Given the description of an element on the screen output the (x, y) to click on. 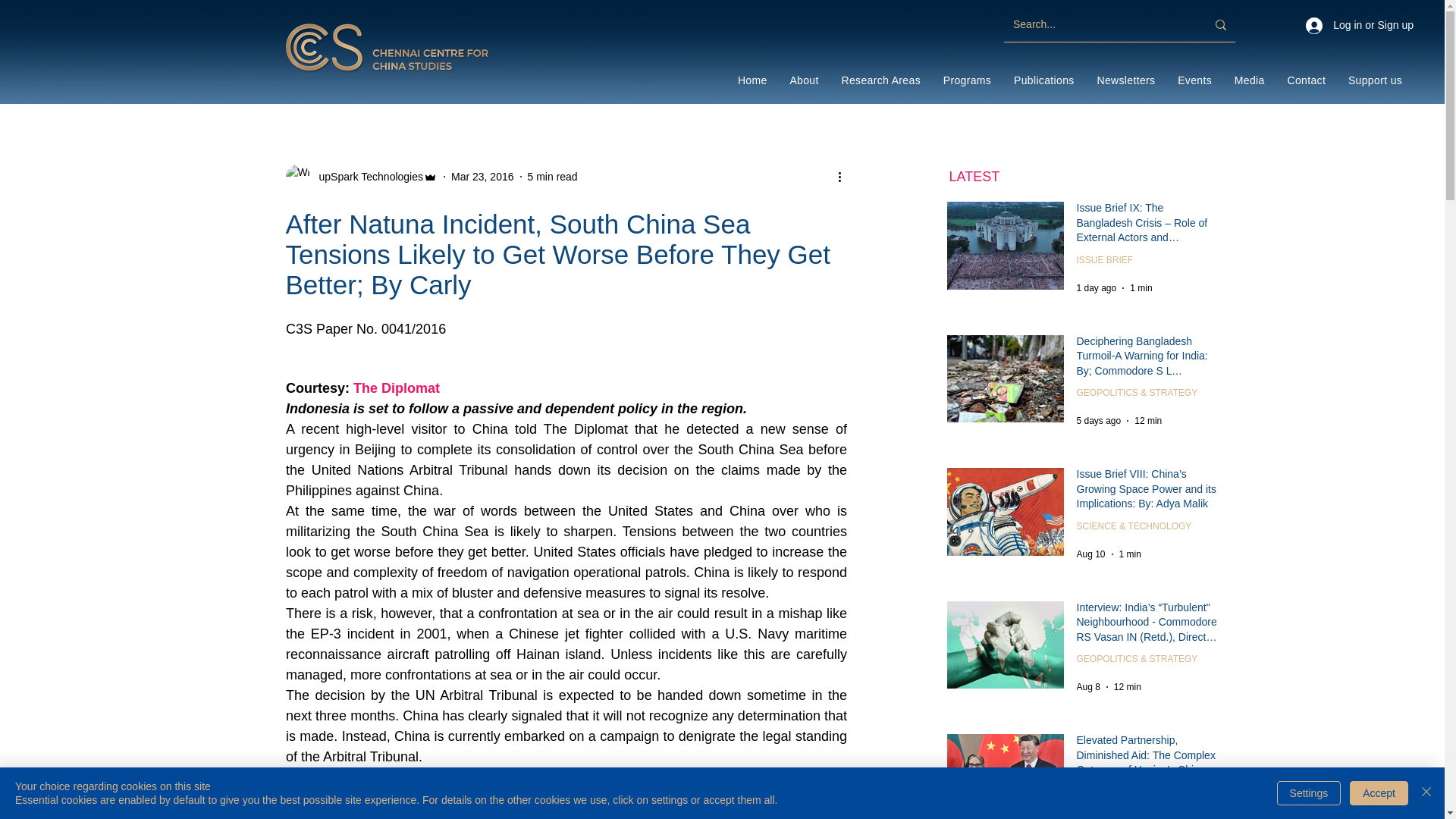
5 min read (552, 175)
1 min (1140, 287)
Aug 10 (1091, 553)
Aug 5 (1088, 816)
Mar 23, 2016 (482, 175)
1 day ago (1096, 287)
6 min (1124, 816)
12 min (1127, 686)
Contact (1306, 80)
Log in or Sign up (1359, 25)
